Given the description of an element on the screen output the (x, y) to click on. 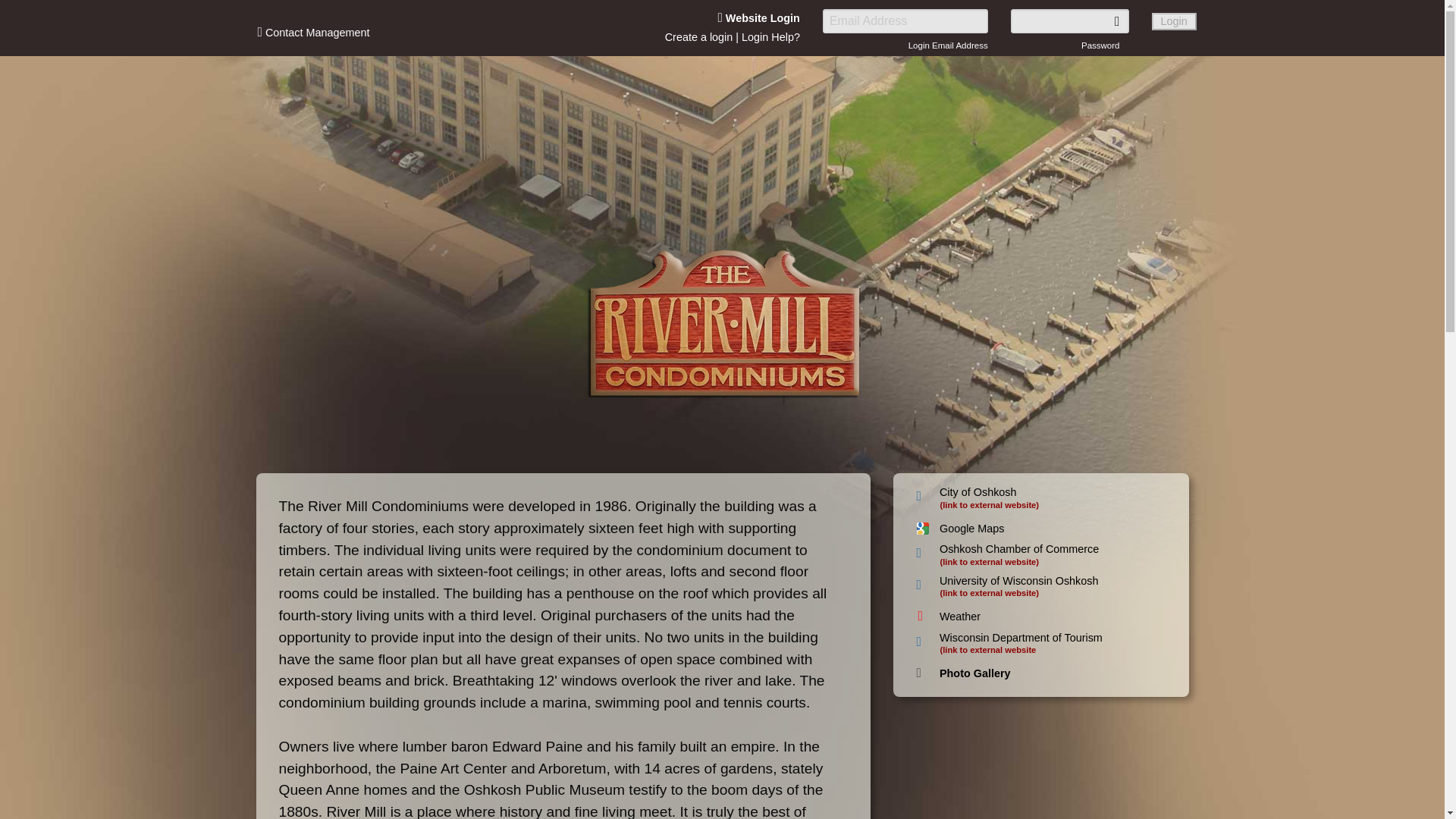
Photo Gallery (974, 673)
City of Oshkosh (977, 491)
Login Help? (770, 37)
Weather (959, 616)
 Contact Management (313, 31)
 Login  (1173, 21)
 Login  (1173, 21)
Oshkosh Chamber of Commerce (1019, 548)
Create a login (699, 37)
Google Maps (971, 528)
